Given the description of an element on the screen output the (x, y) to click on. 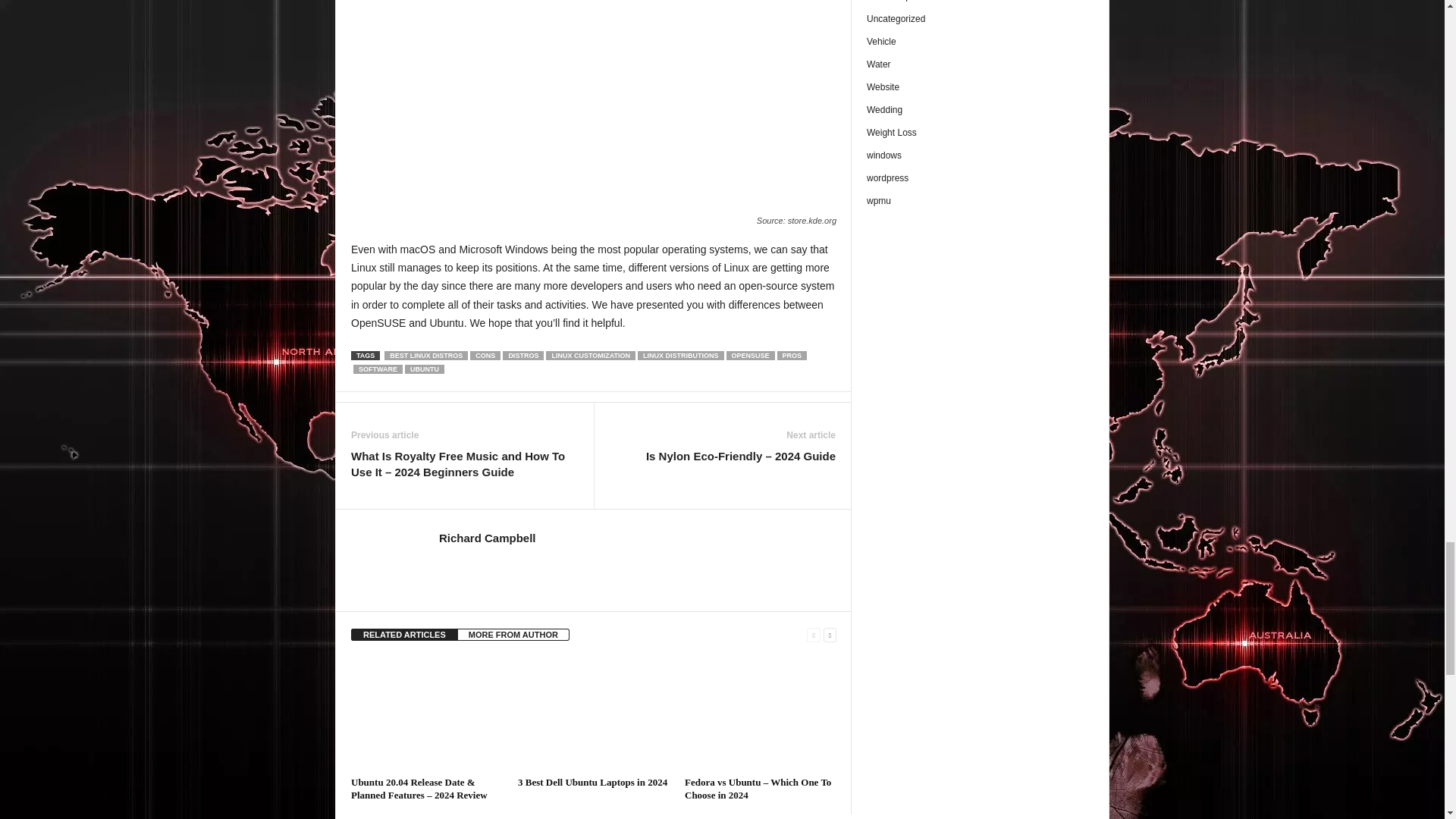
LINUX CUSTOMIZATION (590, 355)
BEST LINUX DISTROS (425, 355)
3 Best Dell Ubuntu Laptops in 2024 (593, 714)
3 Best Dell Ubuntu Laptops in 2024 (592, 781)
CONS (485, 355)
DISTROS (522, 355)
